Given the description of an element on the screen output the (x, y) to click on. 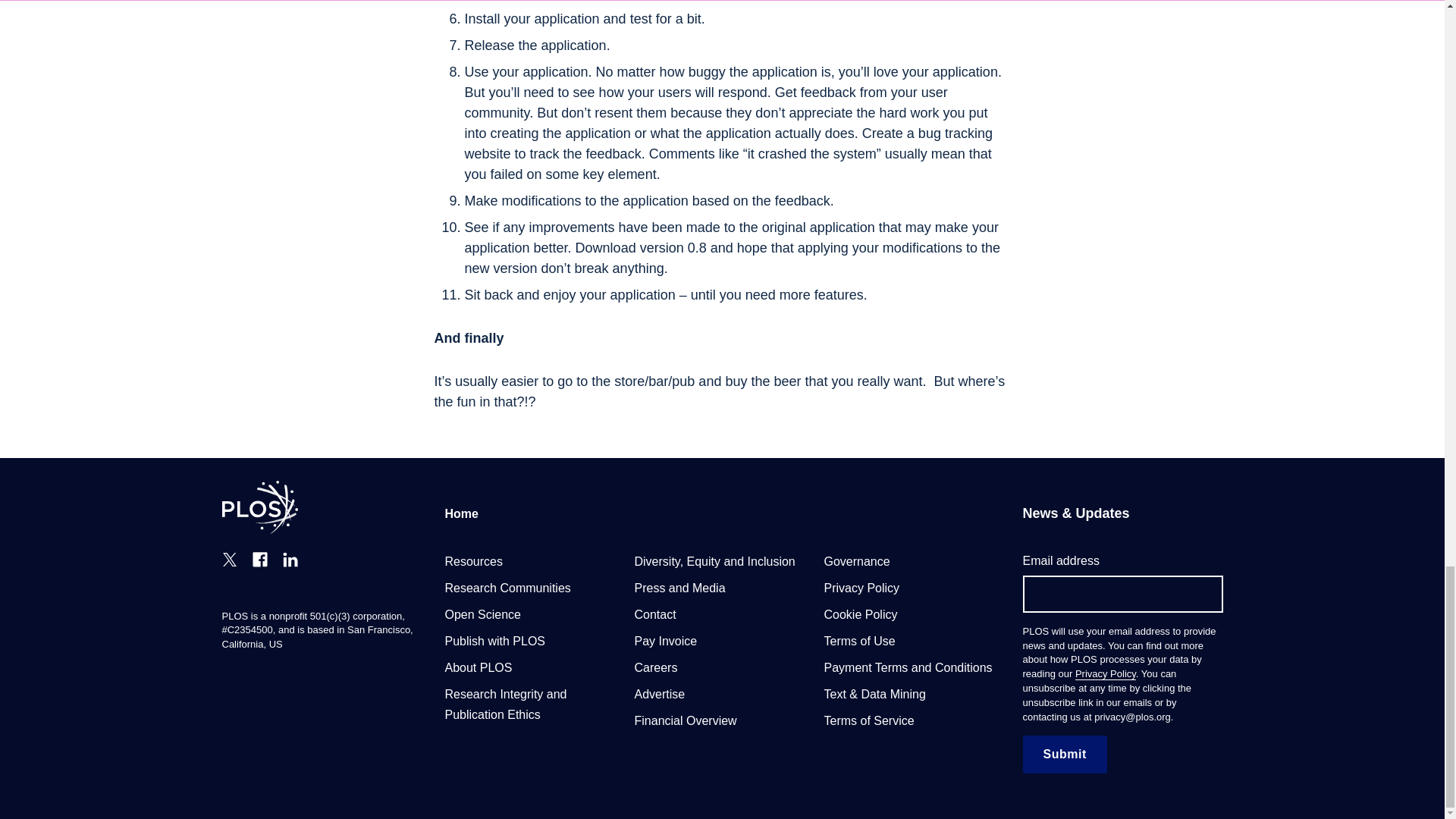
Submit (1064, 754)
